Given the description of an element on the screen output the (x, y) to click on. 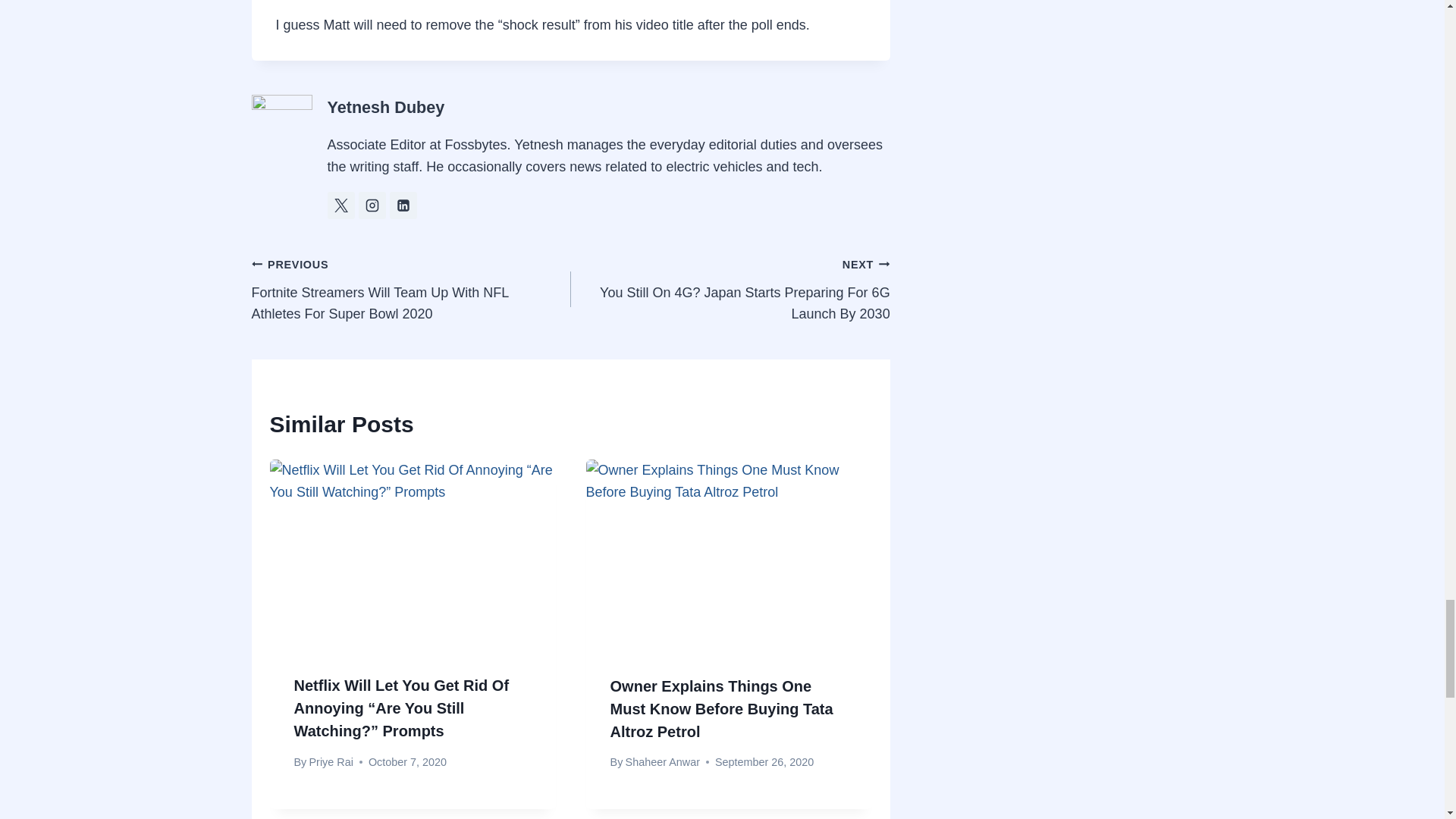
Follow Yetnesh Dubey on Linkedin (403, 205)
Follow Yetnesh Dubey on Instagram (371, 205)
Yetnesh Dubey (386, 107)
Follow Yetnesh Dubey on X formerly Twitter (341, 205)
Shaheer Anwar (663, 761)
Posts by Yetnesh Dubey (386, 107)
Priye Rai (330, 761)
